Given the description of an element on the screen output the (x, y) to click on. 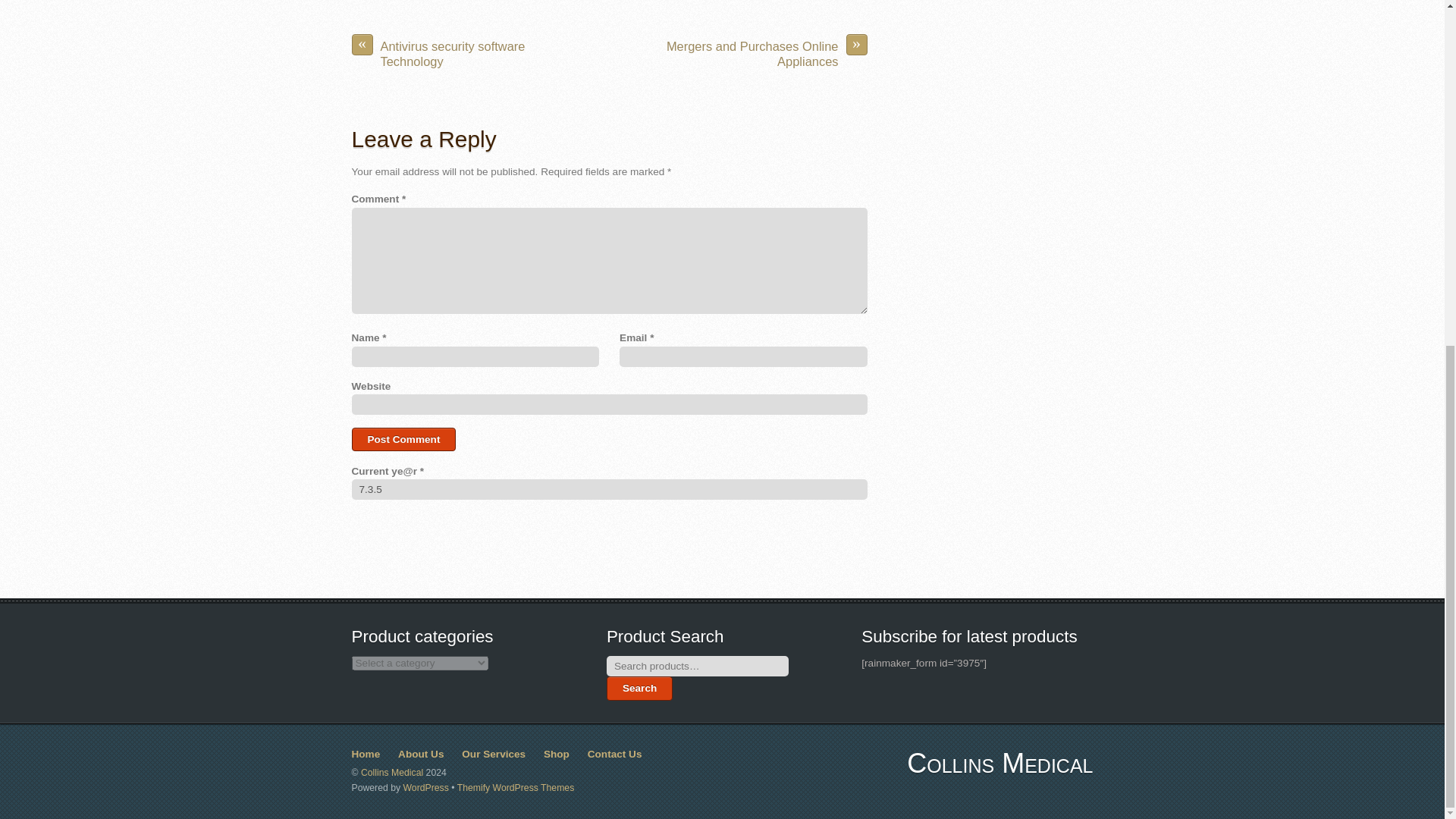
WordPress (425, 787)
Collins Medical (392, 772)
About Us (420, 754)
Contact Us (615, 754)
Home (366, 754)
Post Comment (404, 439)
Collins Medical (1000, 762)
Our Services (493, 754)
Collins Medical (1000, 762)
Search (639, 688)
7.3.5 (609, 489)
Shop (556, 754)
Post Comment (404, 439)
